Given the description of an element on the screen output the (x, y) to click on. 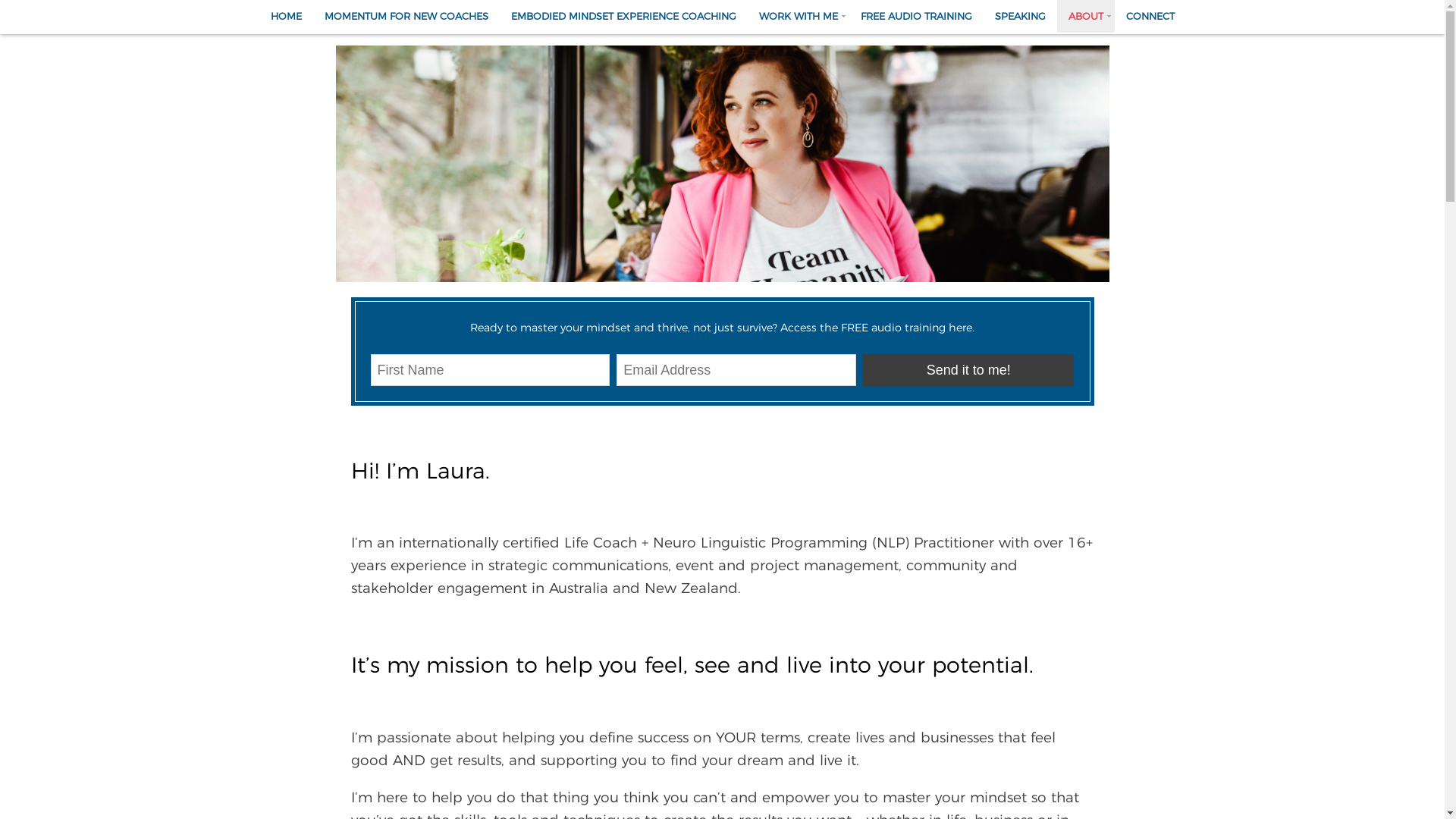
HOME Element type: text (286, 16)
MOMENTUM FOR NEW COACHES Element type: text (405, 16)
FREE AUDIO TRAINING Element type: text (916, 16)
ABOUT Element type: text (1085, 16)
Laura Banks Element type: hover (721, 163)
CONNECT Element type: text (1150, 16)
WORK WITH ME Element type: text (798, 16)
Send it to me! Element type: text (967, 369)
SPEAKING Element type: text (1019, 16)
EMBODIED MINDSET EXPERIENCE COACHING Element type: text (622, 16)
